Given the description of an element on the screen output the (x, y) to click on. 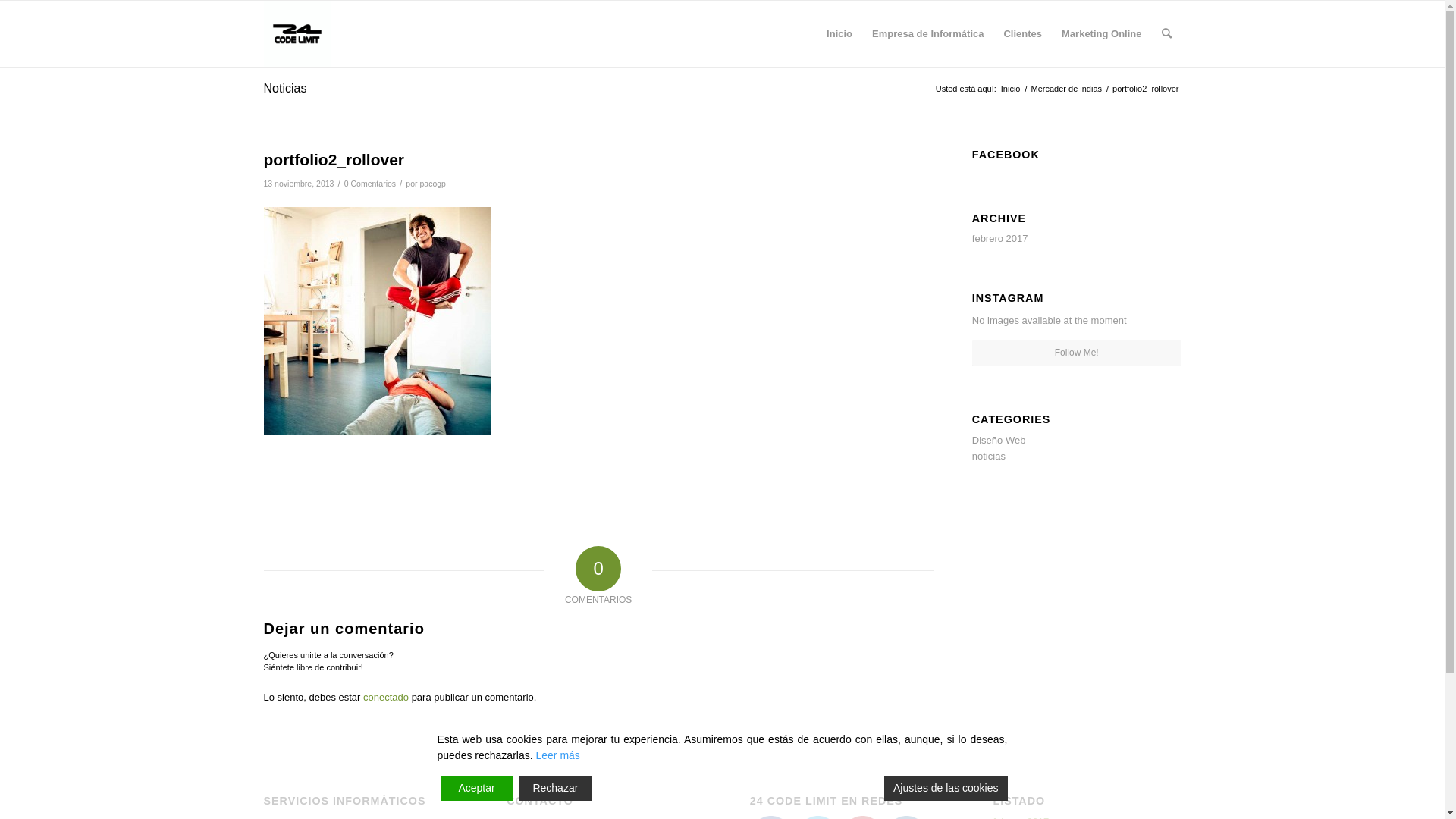
Follow Me! Element type: text (1076, 352)
Aceptar Element type: text (475, 787)
Ajustes de las cookies Element type: text (945, 787)
Marketing Online Element type: text (1101, 33)
pacogp Element type: text (432, 183)
0 Comentarios Element type: text (369, 183)
conectado Element type: text (385, 696)
Rechazar Element type: text (554, 787)
cropped-Logo-24-Code-Limit-blanco-pequeno.jpg Element type: hover (296, 33)
Inicio Element type: text (839, 33)
Inicio Element type: text (1010, 88)
Mercader de indias Element type: text (1066, 88)
Noticias Element type: text (285, 87)
noticias Element type: text (988, 455)
Clientes Element type: text (1022, 33)
febrero 2017 Element type: text (1000, 238)
